Given the description of an element on the screen output the (x, y) to click on. 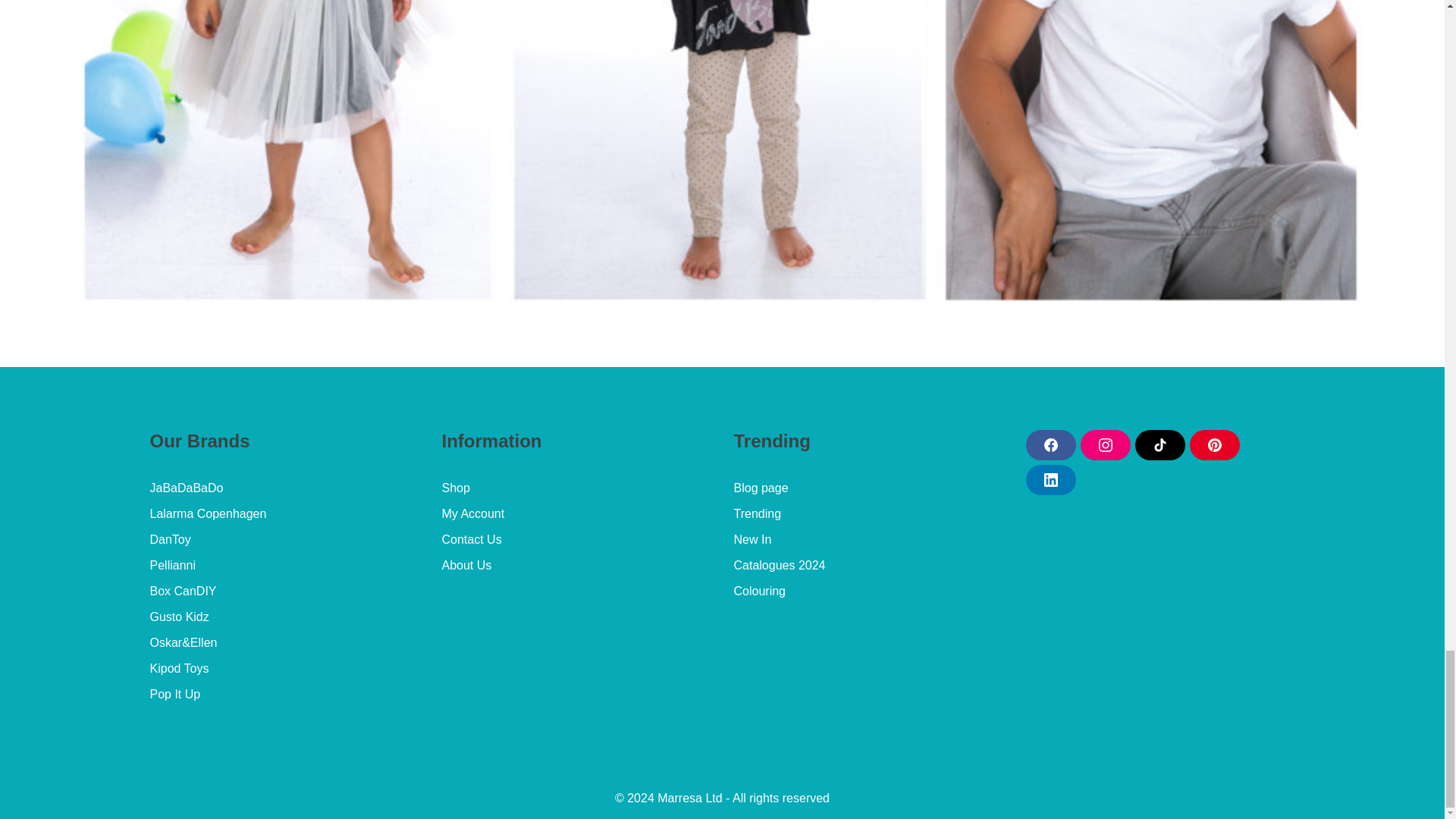
Facebook (1050, 444)
Pinterest (1214, 444)
TikTok (1159, 444)
Instagram (1104, 444)
Linkedin (1050, 480)
